Given the description of an element on the screen output the (x, y) to click on. 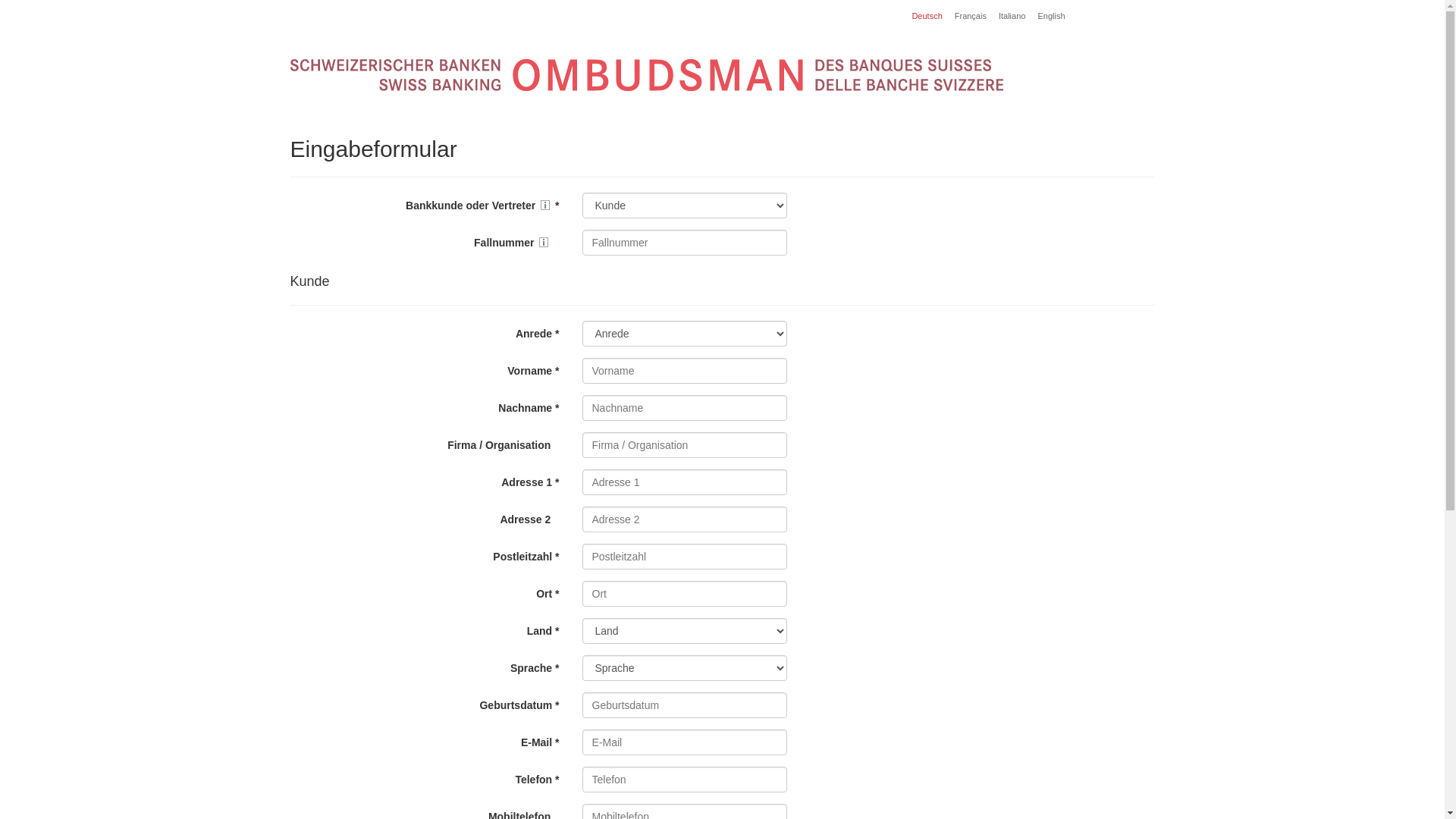
Schweizerischer Bankenombudsman Element type: hover (645, 75)
Deutsch Element type: text (926, 15)
Italiano Element type: text (1011, 15)
English Element type: text (1050, 15)
